Given the description of an element on the screen output the (x, y) to click on. 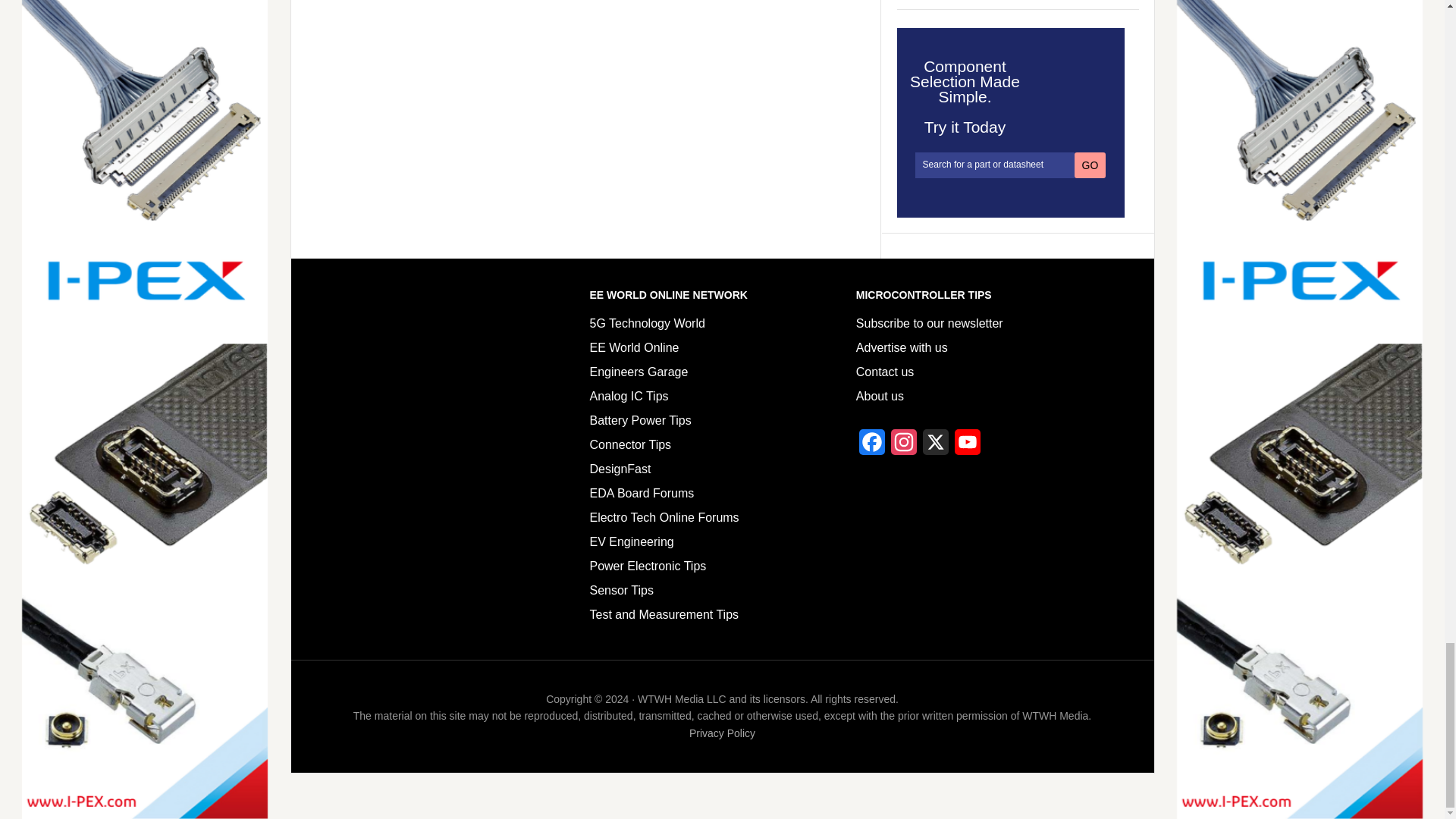
X (936, 446)
Instagram (904, 446)
Facebook (872, 446)
YouTube Channel (968, 446)
GO (1090, 165)
